Given the description of an element on the screen output the (x, y) to click on. 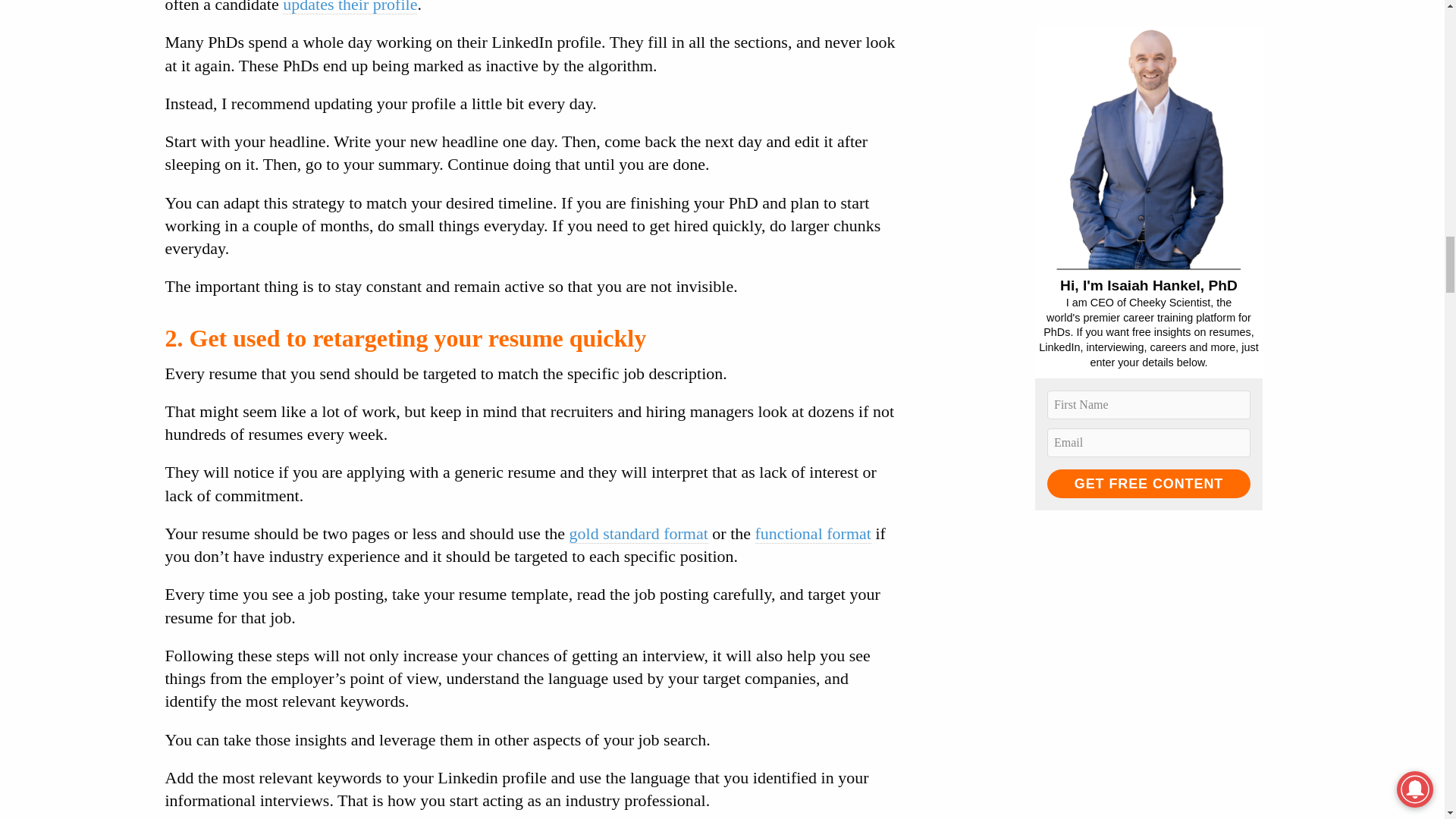
updates their profile (349, 7)
functional format (812, 533)
gold standard format (638, 533)
